Given the description of an element on the screen output the (x, y) to click on. 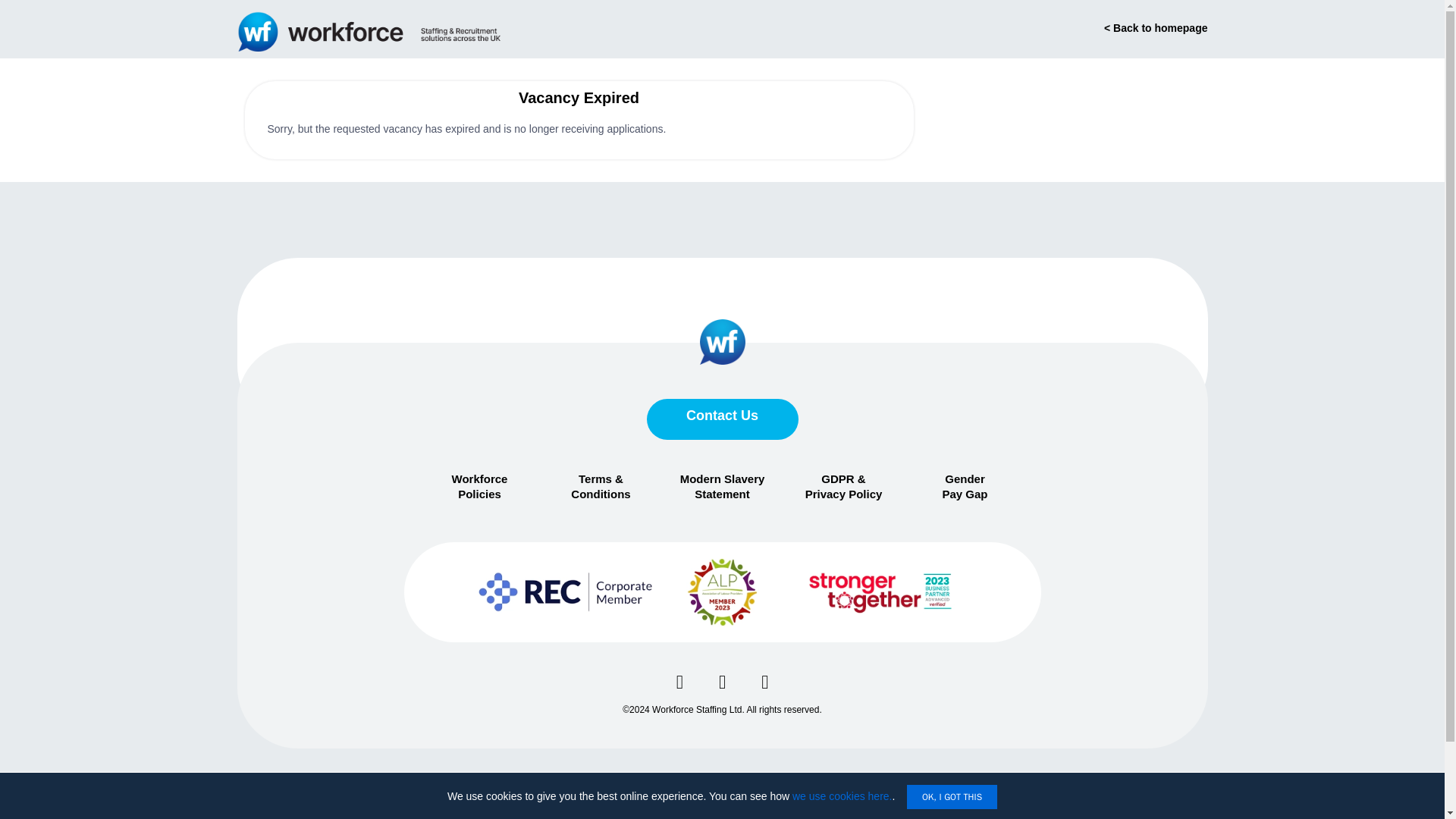
We Are Workforce (383, 797)
OK, I GOT THIS (952, 796)
Cookie Policy (632, 797)
we use cookies here. (842, 796)
Terms Of Service (475, 797)
Privacy Policy (558, 797)
